Given the description of an element on the screen output the (x, y) to click on. 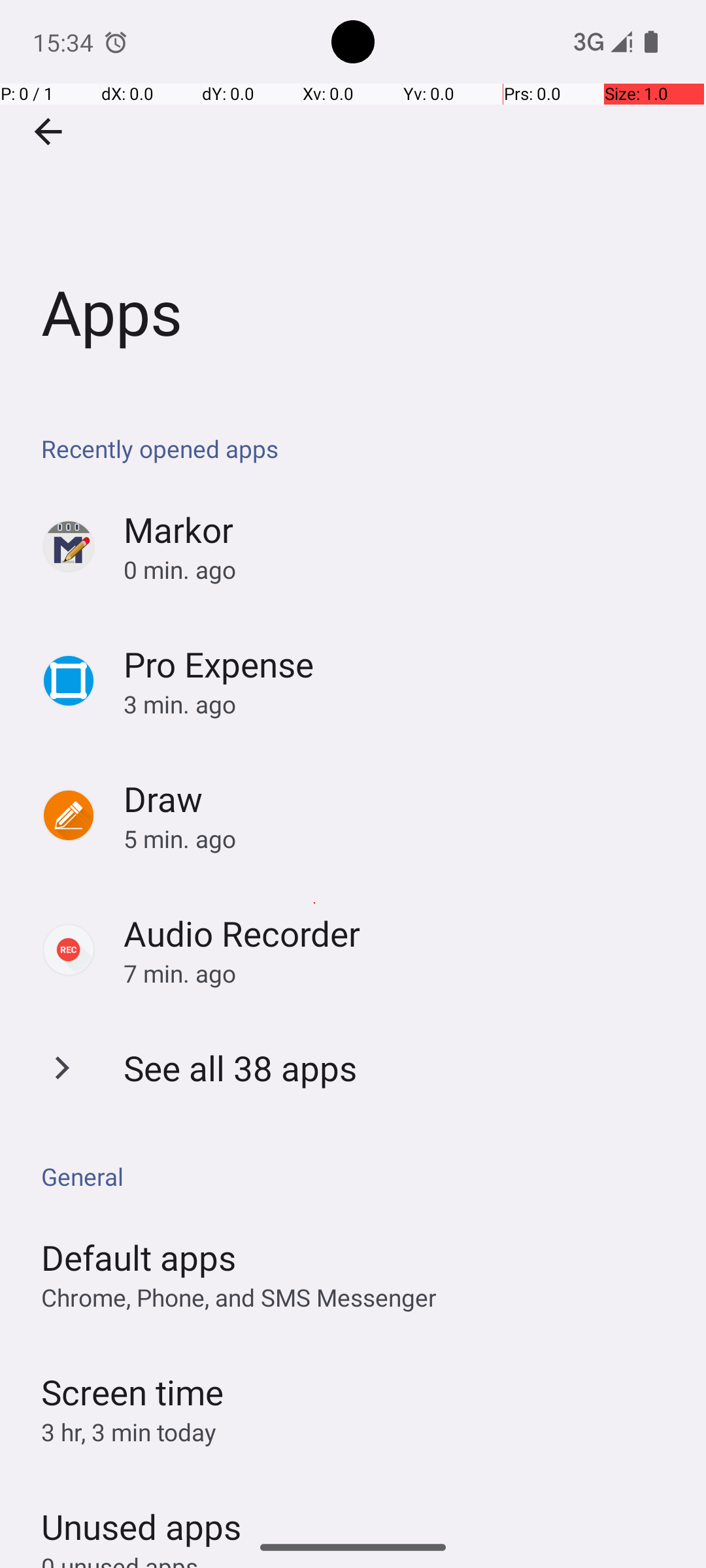
5 min. ago Element type: android.widget.TextView (400, 838)
7 min. ago Element type: android.widget.TextView (400, 972)
See all 38 apps Element type: android.widget.TextView (239, 1067)
3 hr, 3 min today Element type: android.widget.TextView (129, 1431)
